Given the description of an element on the screen output the (x, y) to click on. 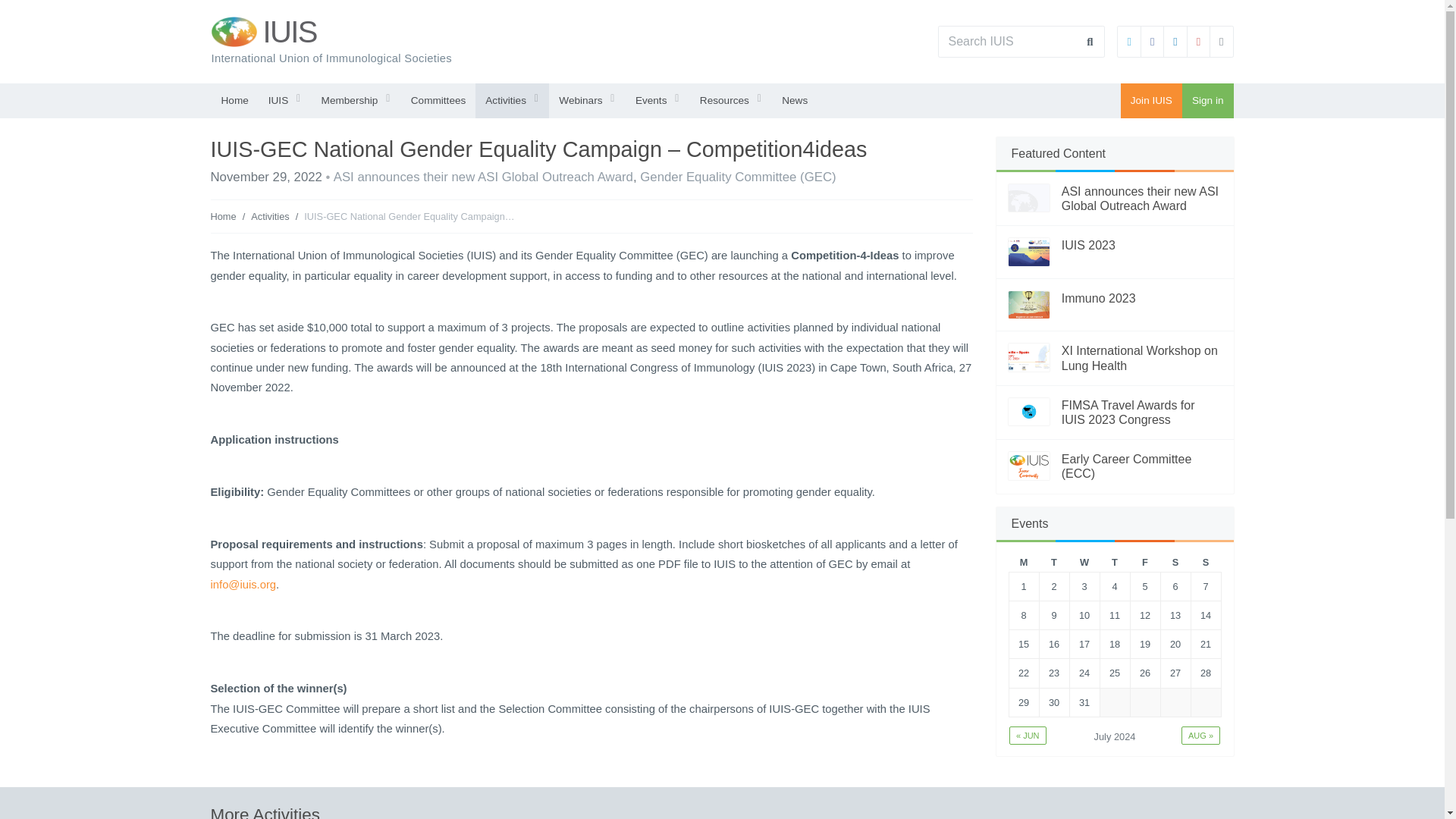
Webinars (587, 100)
Membership (356, 100)
Membership (356, 100)
IUIS (288, 31)
Committees (438, 100)
IUIS (285, 100)
Events (658, 100)
Activities (512, 100)
IUIS (285, 100)
Home (234, 100)
Committees (438, 100)
Activities (512, 100)
Resources (730, 100)
Home (234, 100)
Events (658, 100)
